Given the description of an element on the screen output the (x, y) to click on. 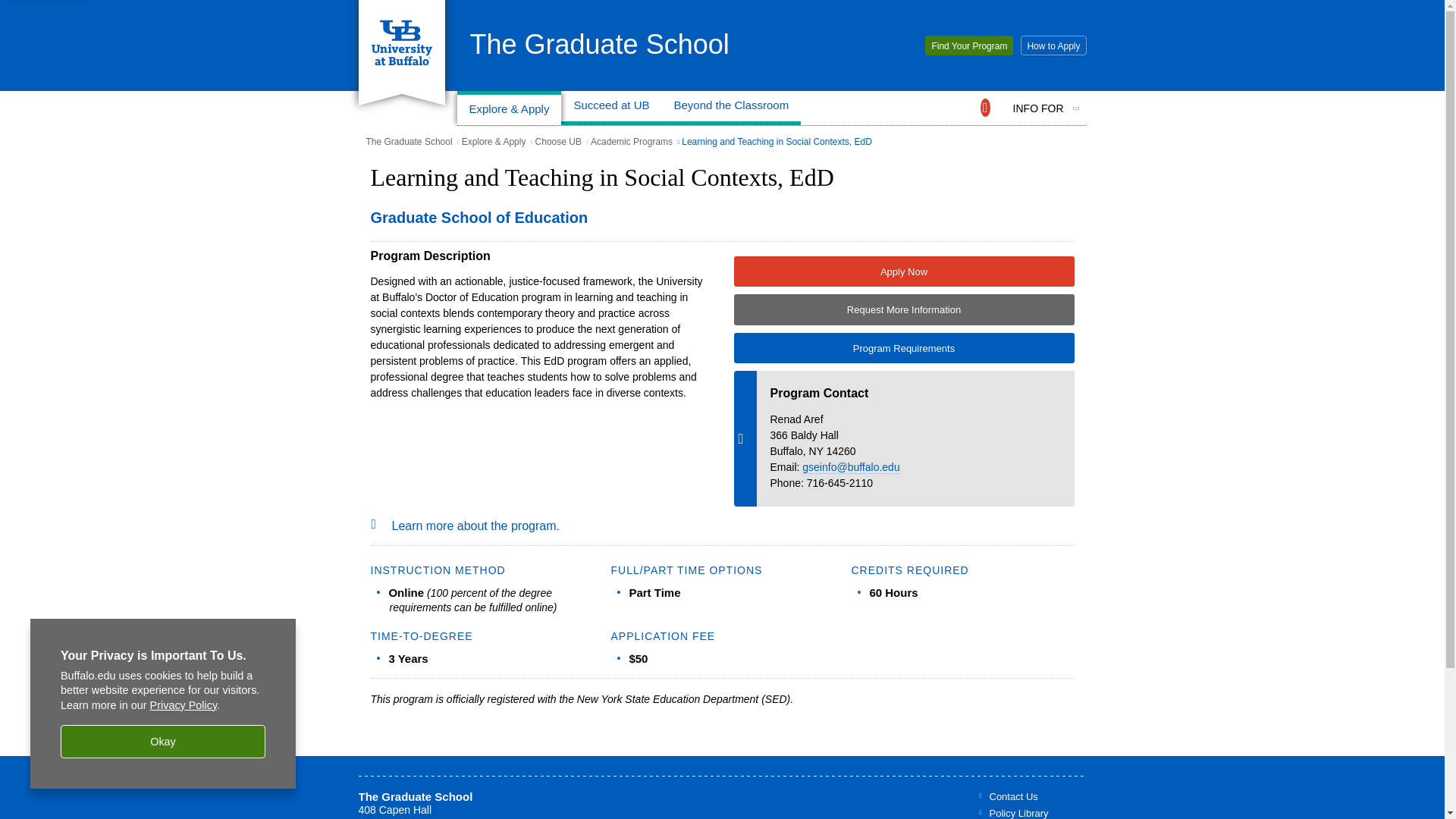
The Graduate School (599, 43)
How to Apply (1053, 45)
Succeed at UB (610, 107)
Find Your Program (968, 45)
